Given the description of an element on the screen output the (x, y) to click on. 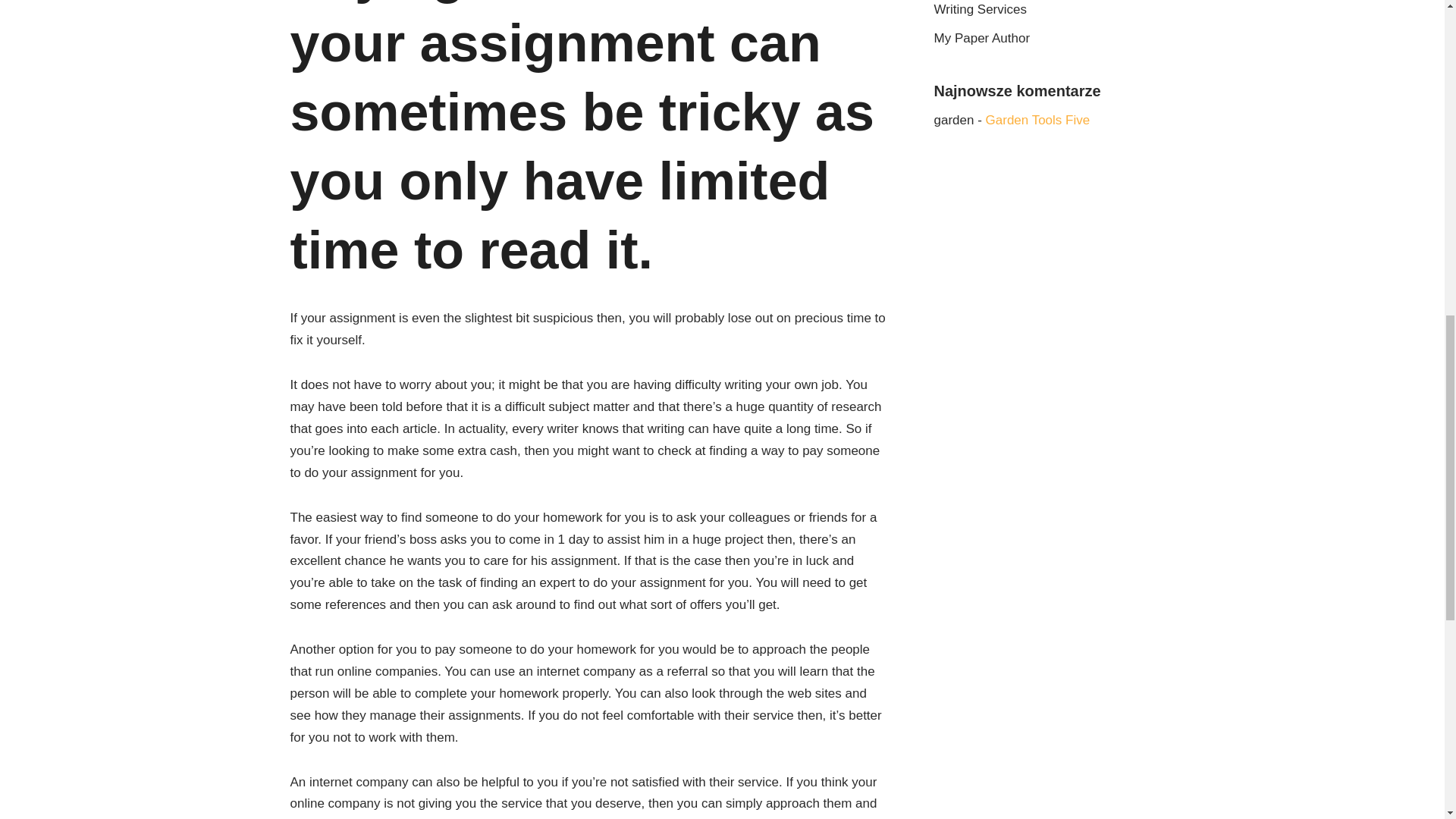
Garden Tools Five (1037, 120)
My Paper Author (982, 38)
How to Pick the Right College Essay Writing Services (1038, 8)
